Given the description of an element on the screen output the (x, y) to click on. 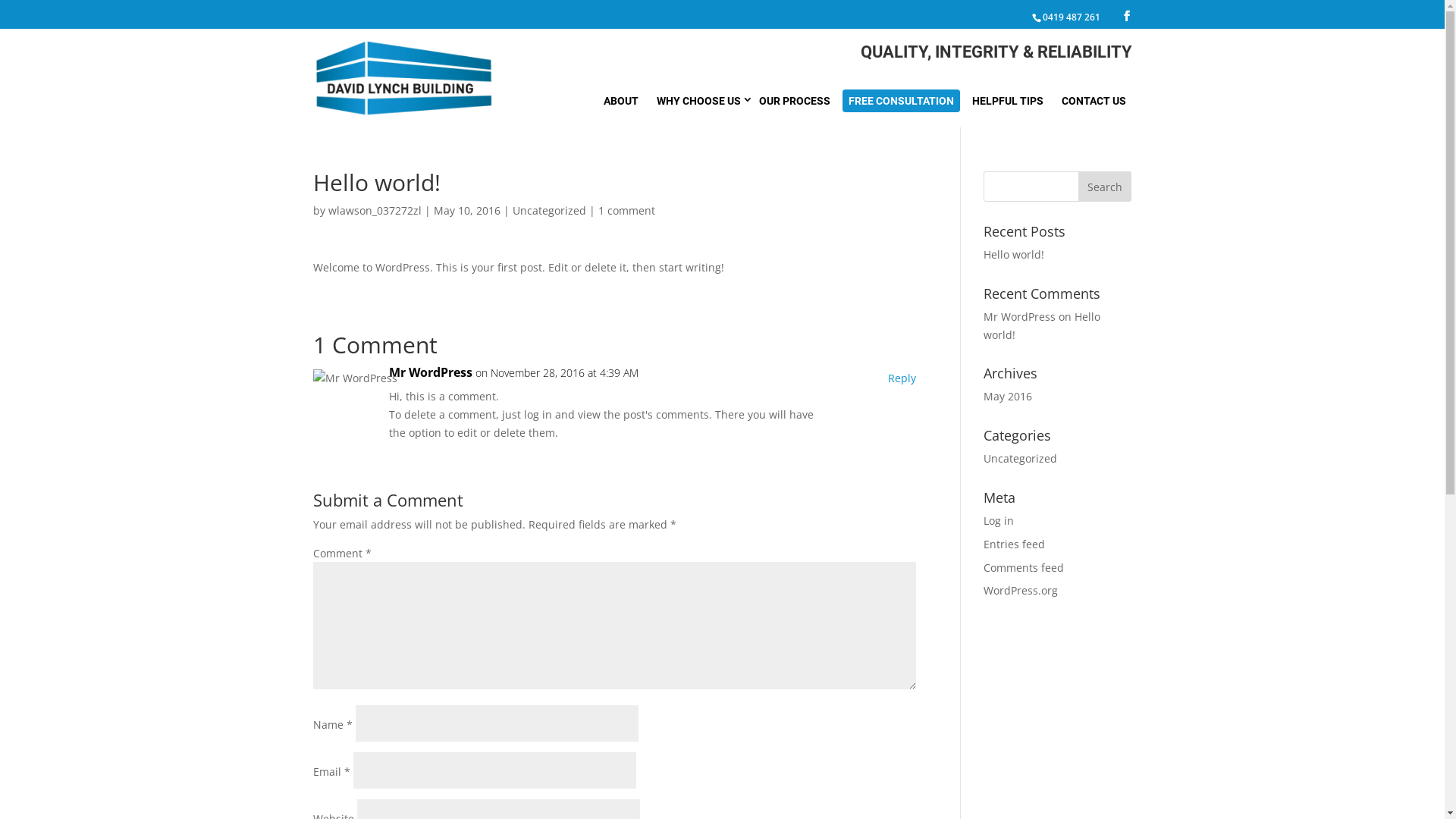
Mr WordPress Element type: text (429, 373)
May 2016 Element type: text (1007, 396)
OUR PROCESS Element type: text (793, 100)
Comments feed Element type: text (1023, 567)
wlawson_037272zl Element type: text (373, 210)
CONTACT US Element type: text (1093, 100)
Uncategorized Element type: text (549, 210)
Hello world! Element type: text (1013, 254)
Search Element type: text (1104, 186)
FREE CONSULTATION Element type: text (900, 100)
ABOUT Element type: text (620, 100)
Hello world! Element type: text (1041, 325)
HELPFUL TIPS Element type: text (1007, 100)
Uncategorized Element type: text (1020, 458)
Entries feed Element type: text (1013, 543)
WHY CHOOSE US Element type: text (698, 100)
WordPress.org Element type: text (1020, 590)
Log in Element type: text (998, 520)
Mr WordPress Element type: text (1019, 316)
1 comment Element type: text (625, 210)
Reply Element type: text (902, 378)
